Given the description of an element on the screen output the (x, y) to click on. 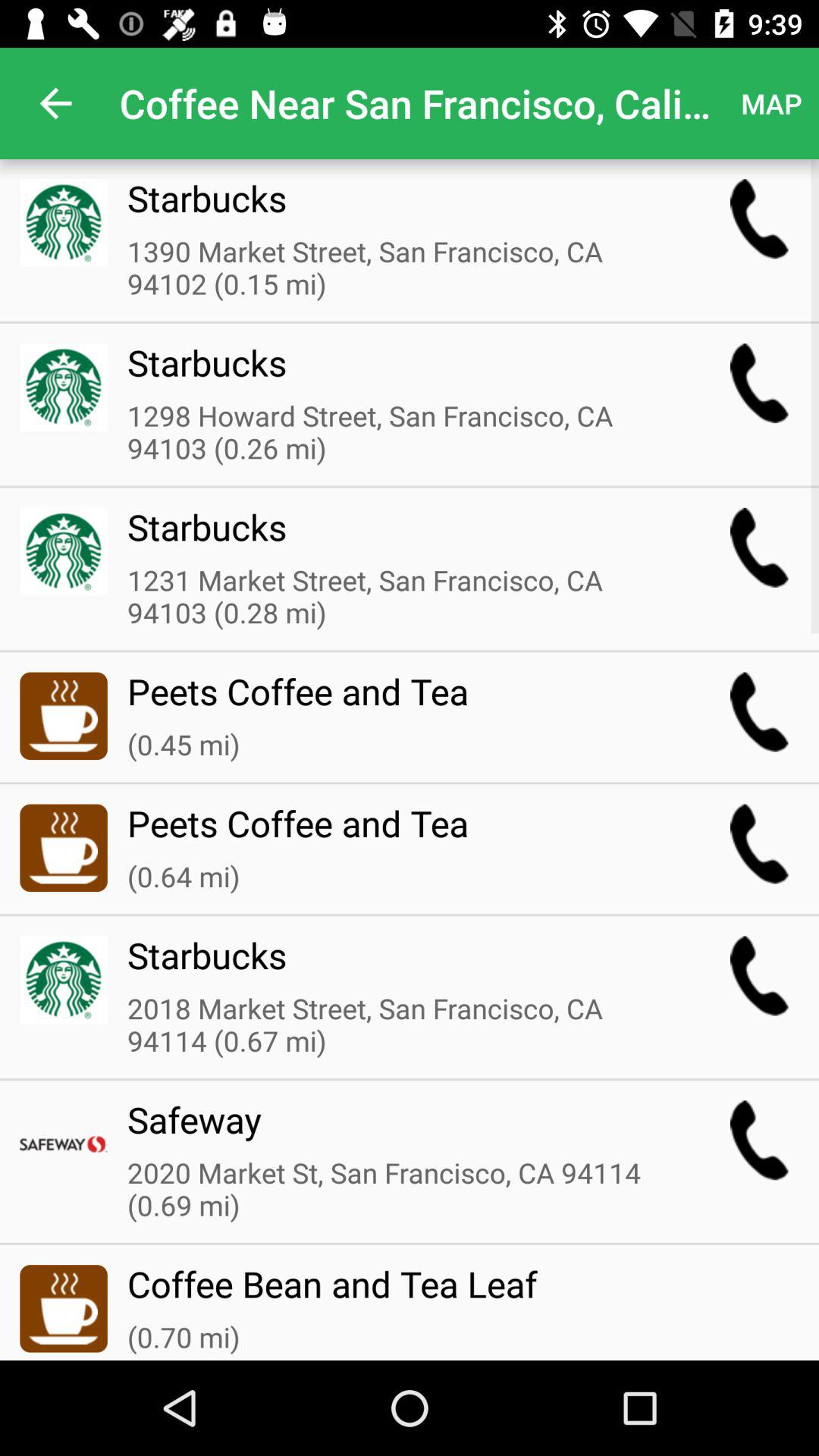
click the safeway item (398, 1128)
